Given the description of an element on the screen output the (x, y) to click on. 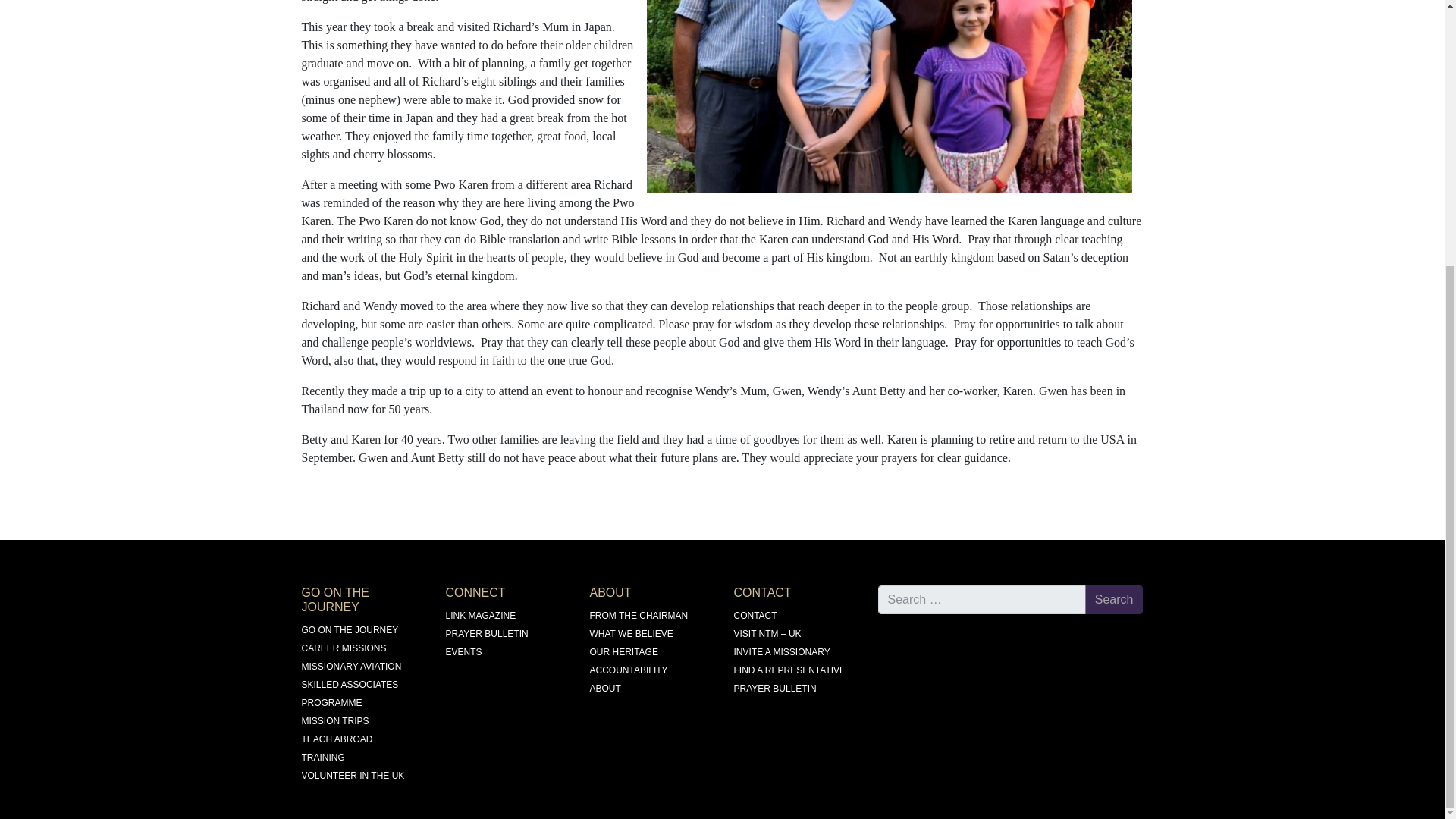
SKILLED ASSOCIATES PROGRAMME (349, 693)
Search (1113, 599)
CAREER MISSIONS (344, 647)
MISSIONARY AVIATION (351, 665)
GO ON THE JOURNEY (349, 629)
